Given the description of an element on the screen output the (x, y) to click on. 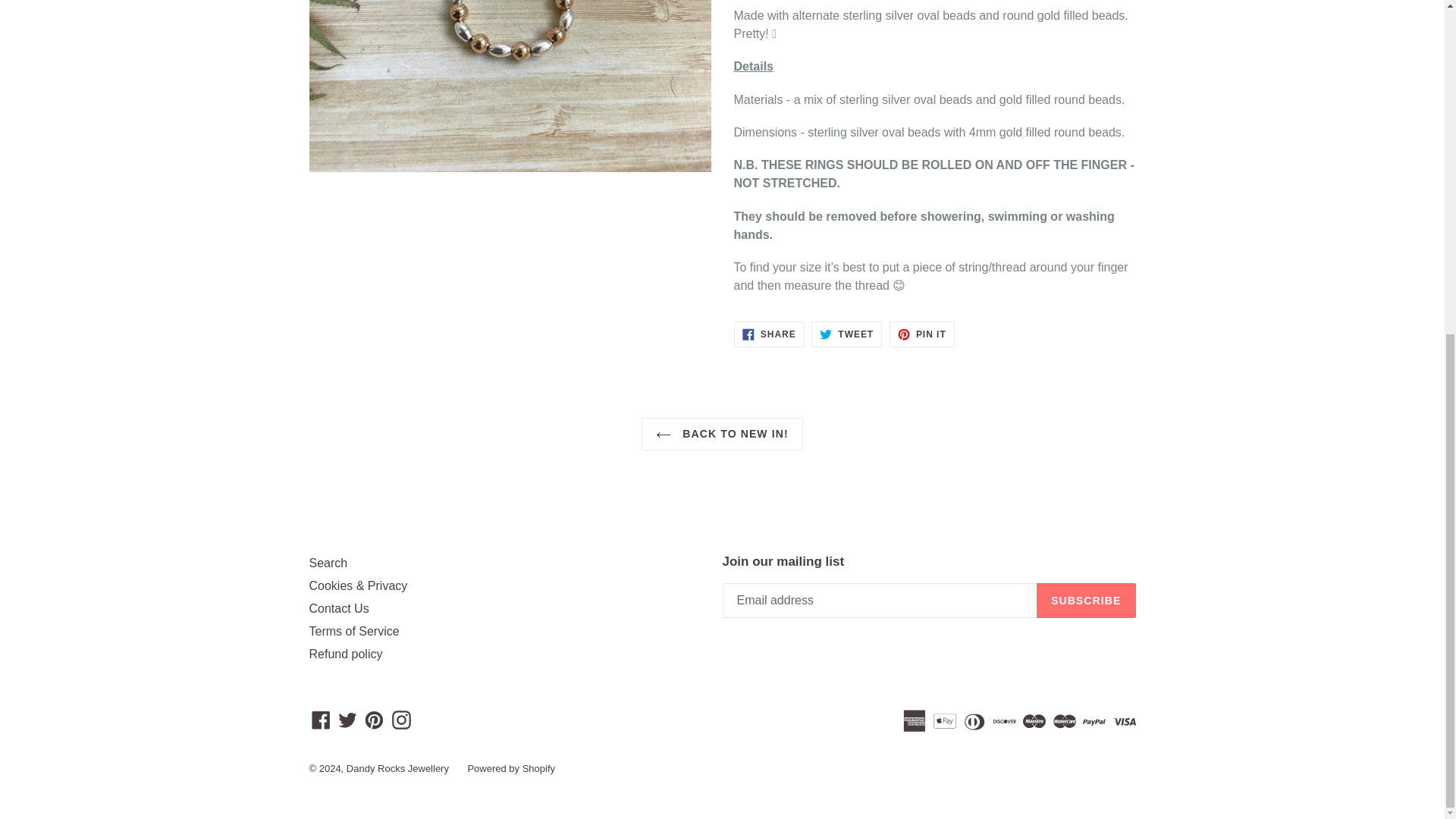
Dandy Rocks Jewellery on Instagram (401, 719)
Share on Facebook (769, 334)
Search (327, 562)
Dandy Rocks Jewellery on Twitter (769, 334)
Contact Us (347, 719)
Refund policy (846, 334)
Terms of Service (338, 608)
BACK TO NEW IN! (345, 653)
Dandy Rocks Jewellery on Pinterest (353, 631)
SUBSCRIBE (722, 433)
Dandy Rocks Jewellery on Facebook (373, 719)
Tweet on Twitter (1085, 600)
